Given the description of an element on the screen output the (x, y) to click on. 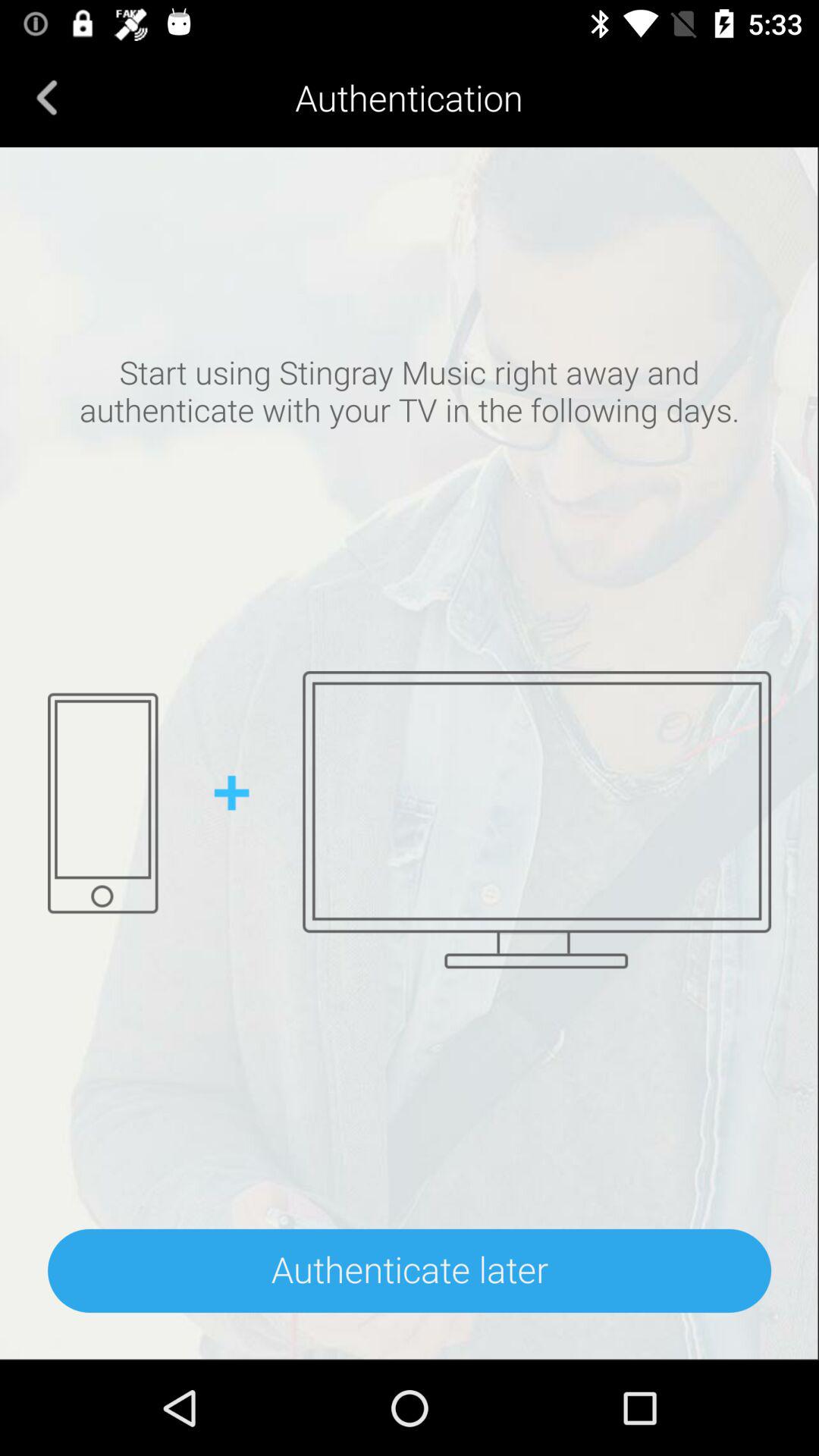
choose the icon at the top left corner (47, 97)
